Given the description of an element on the screen output the (x, y) to click on. 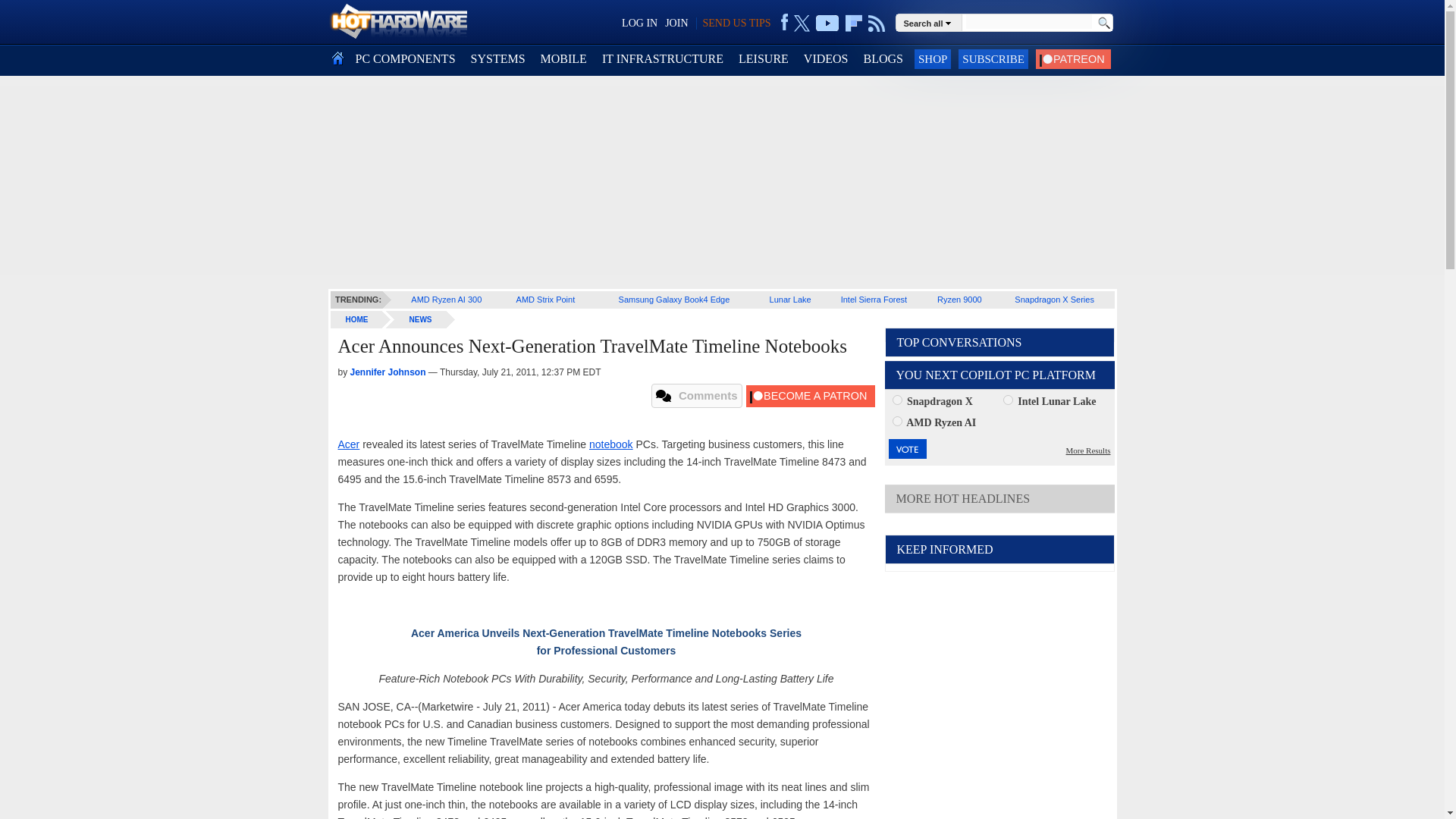
keyword (1028, 21)
Go (1103, 22)
Comments (696, 395)
759 (896, 420)
SIGN OUT (39, 18)
PC COMPONENTS (405, 58)
SEND US TIPS (735, 22)
Blogs (883, 58)
LOG IN (639, 22)
757 (896, 399)
Go (1103, 22)
758 (1008, 399)
Go (1103, 22)
Search all (929, 22)
JOIN (676, 22)
